Given the description of an element on the screen output the (x, y) to click on. 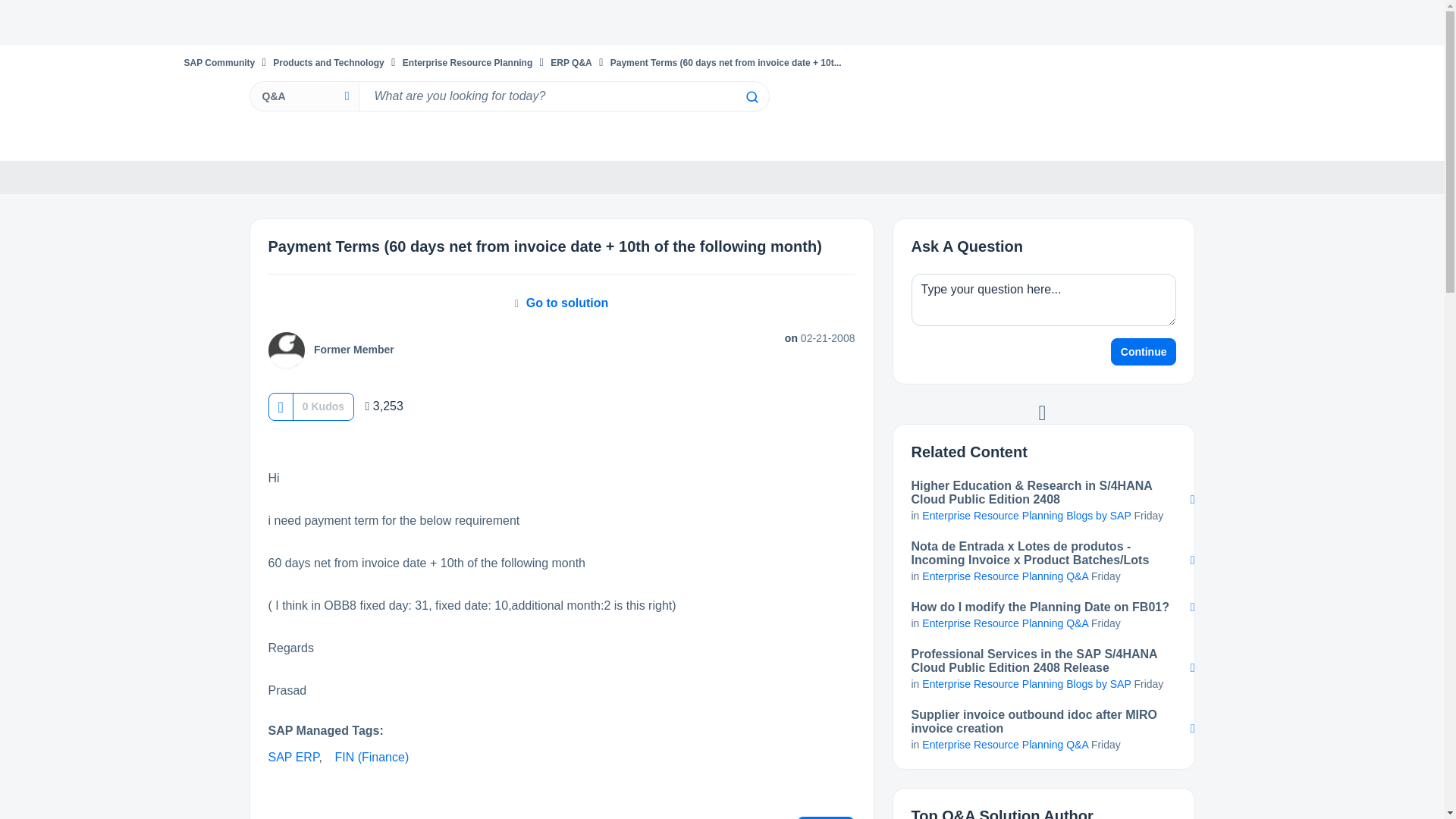
Answer (826, 817)
Enterprise Resource Planning (467, 62)
SAP Community (218, 62)
Go to solution (561, 302)
Continue (1143, 351)
SAP ERP (292, 757)
Products and Technology (328, 62)
Search (563, 96)
Search (750, 96)
Search Granularity (303, 96)
The total number of kudos this post has received. (323, 406)
Search (750, 96)
Click here to give kudos to this post. (279, 406)
Search (750, 96)
